Given the description of an element on the screen output the (x, y) to click on. 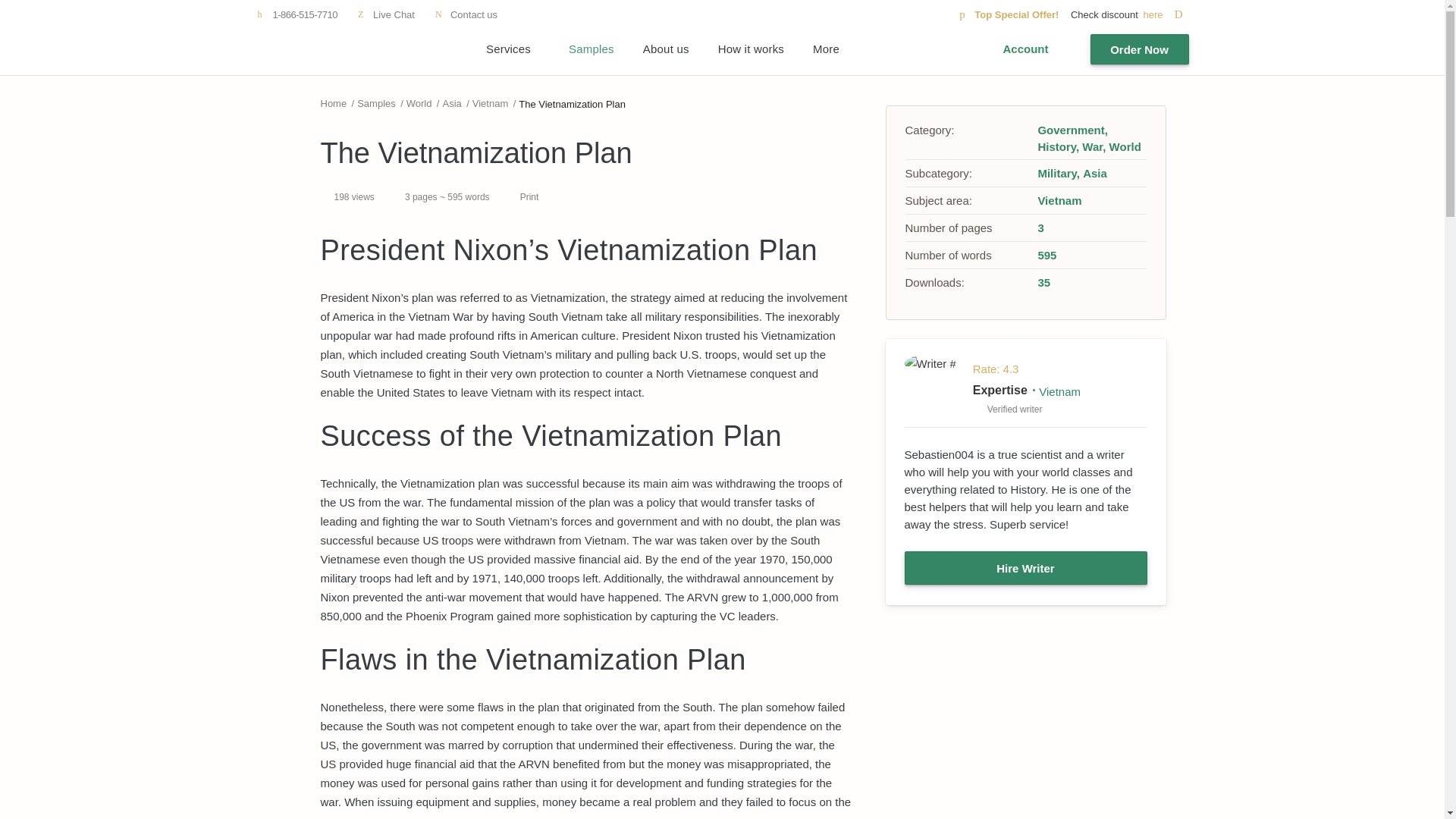
Order Now (1139, 49)
Home (333, 102)
Samples (376, 102)
Account (1025, 49)
World (419, 102)
Print (522, 197)
Contact us (465, 14)
Live Chat (385, 14)
here (1165, 14)
About us (665, 49)
